Given the description of an element on the screen output the (x, y) to click on. 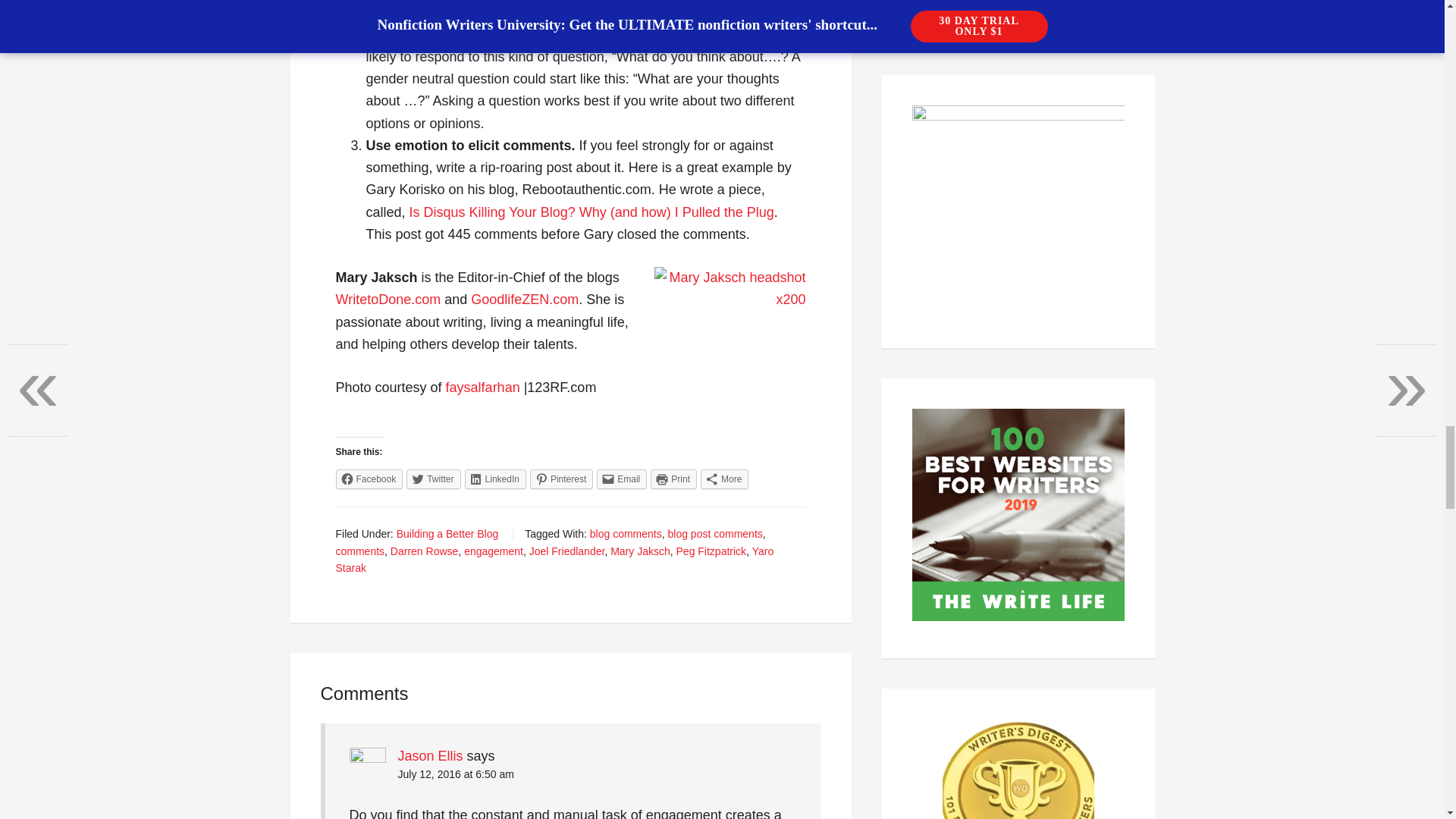
Click to share on Twitter (433, 478)
faysalfarhan Stock photo (482, 387)
Click to share on Facebook (368, 478)
Click to share on LinkedIn (494, 478)
